Given the description of an element on the screen output the (x, y) to click on. 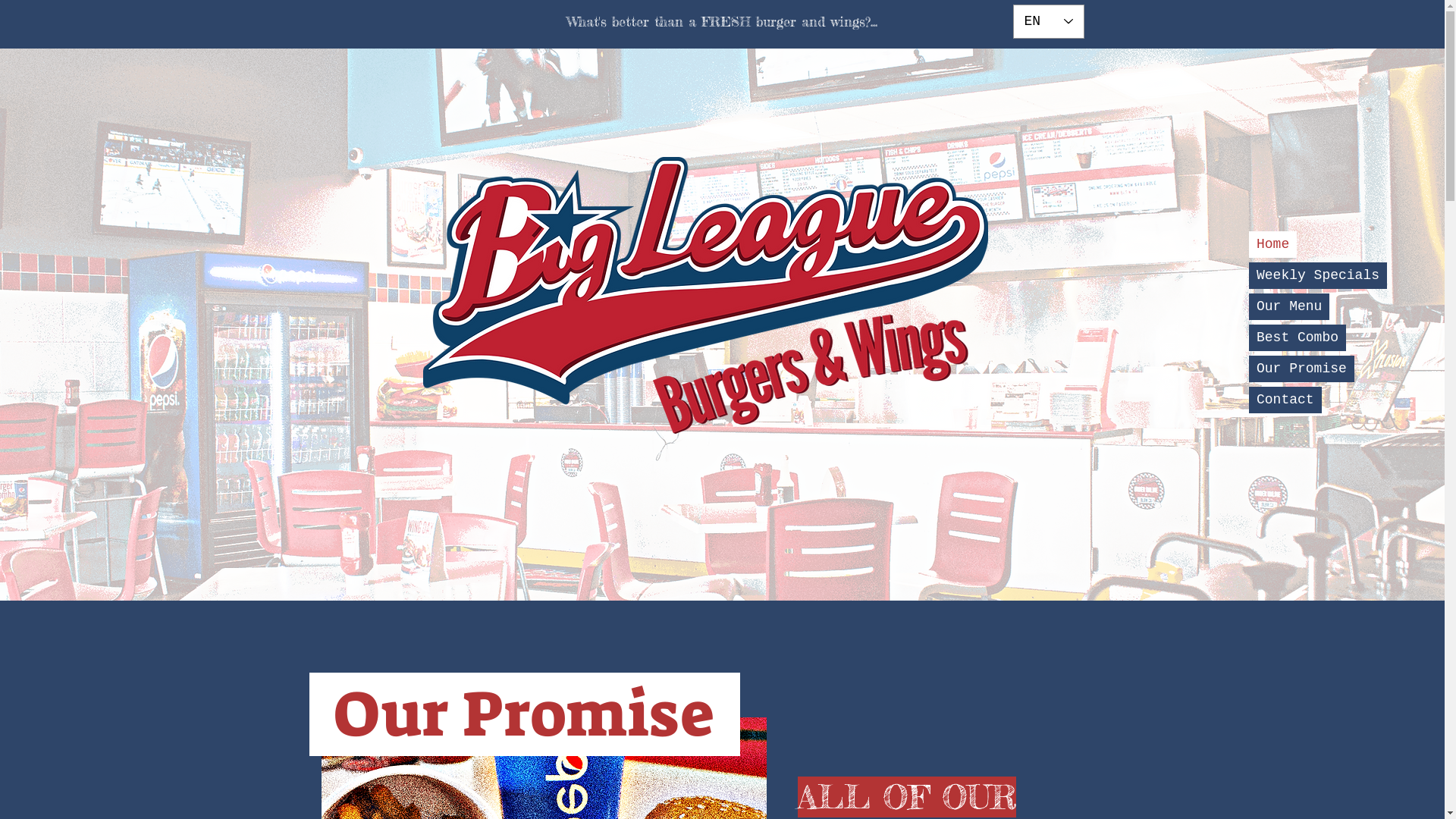
Our Menu Element type: text (1288, 306)
Our Promise Element type: text (1301, 368)
Weekly Specials Element type: text (1317, 275)
What's better than a FRESH burger and wings?... Element type: text (720, 20)
Best Combo Element type: text (1297, 337)
Contact Element type: text (1284, 399)
Home Element type: text (1272, 244)
